Given the description of an element on the screen output the (x, y) to click on. 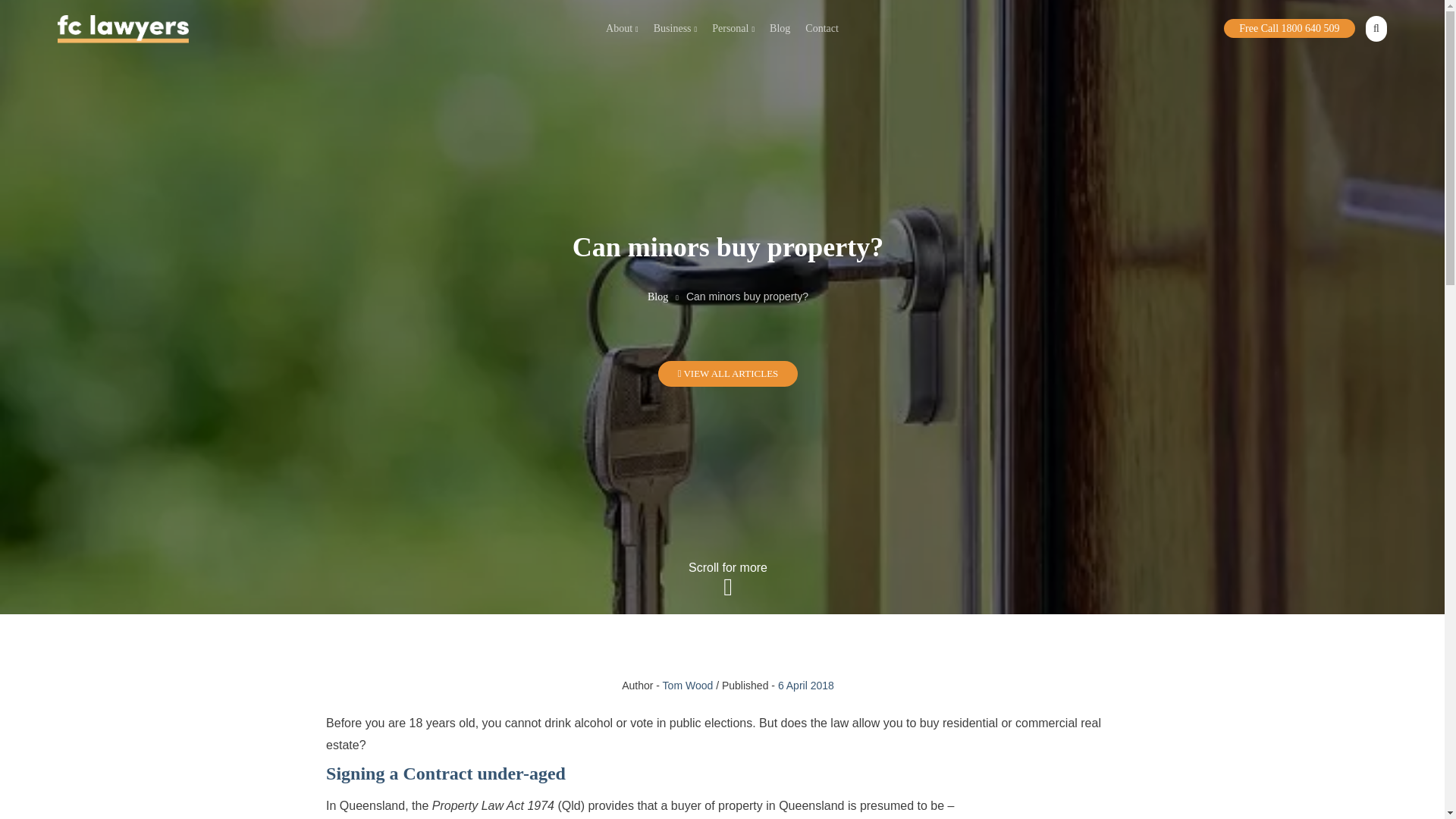
Business (675, 28)
Scroll for more (727, 579)
Personal (732, 28)
Blog (657, 296)
VIEW ALL ARTICLES (727, 373)
About (622, 28)
Free Call 1800 640 509 (1289, 27)
Blog (779, 28)
Contact (821, 28)
